Given the description of an element on the screen output the (x, y) to click on. 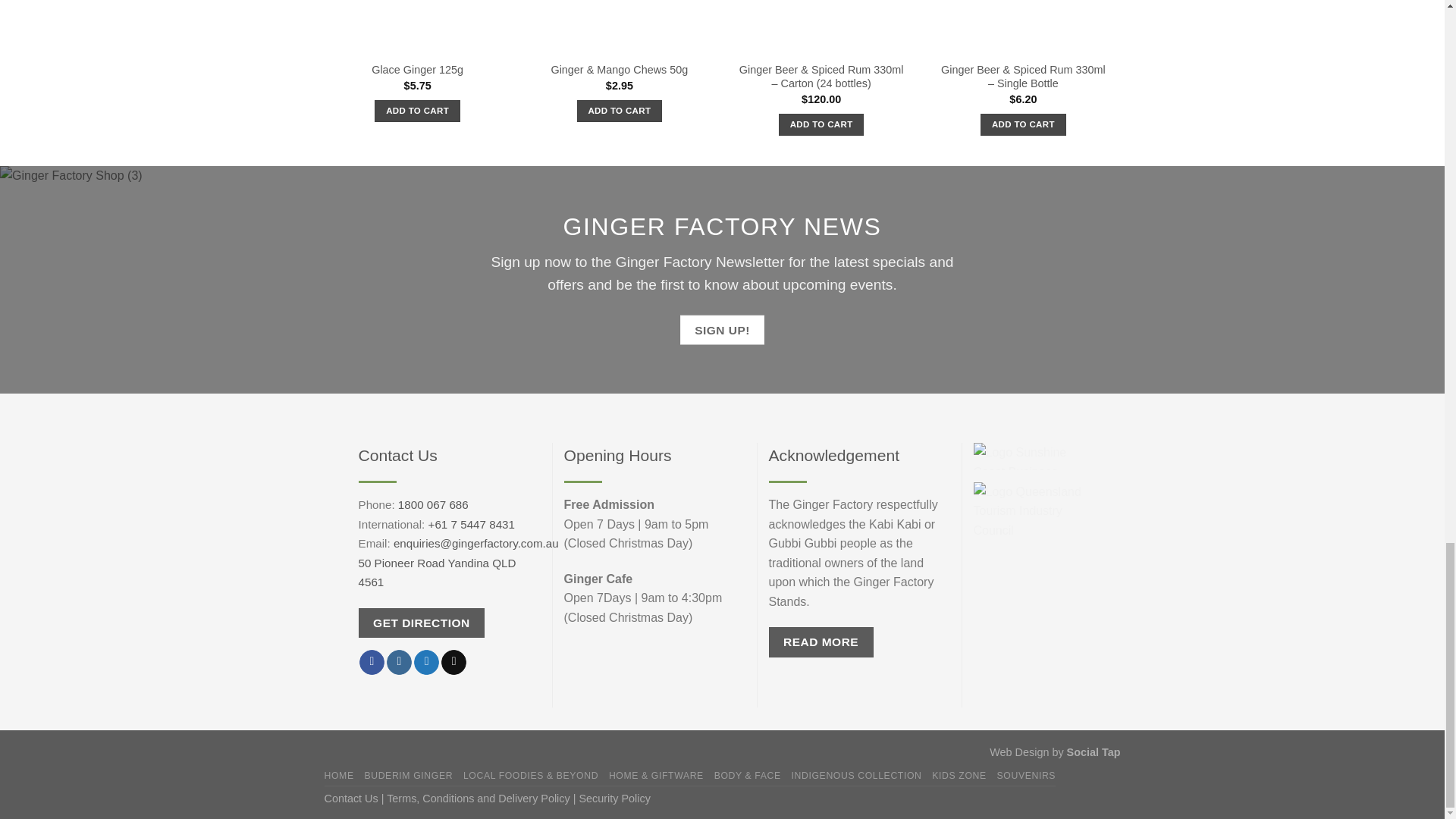
Follow on Instagram (399, 661)
Follow on Facebook (371, 661)
Send us an email (453, 661)
Follow on Twitter (426, 661)
